Given the description of an element on the screen output the (x, y) to click on. 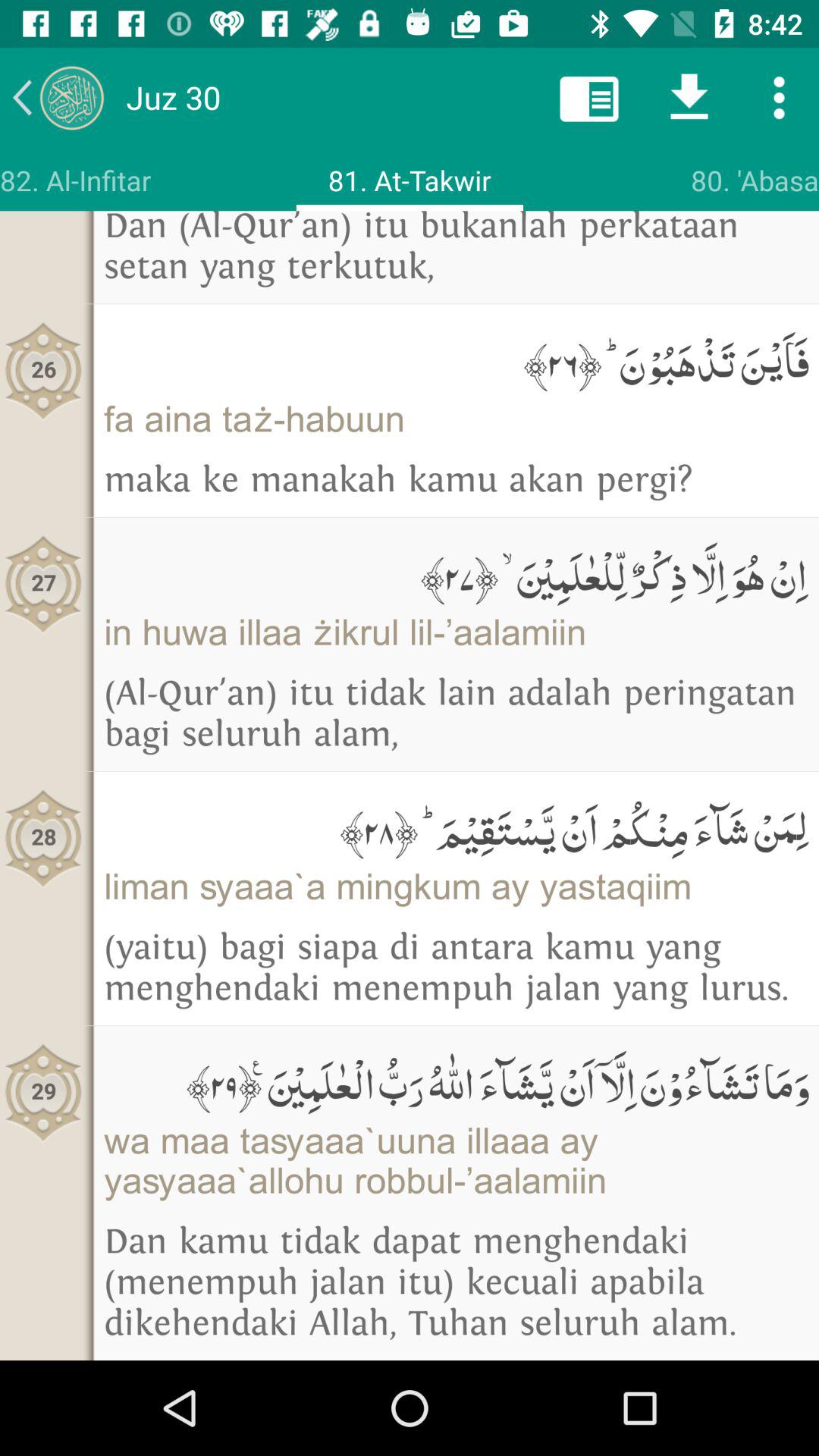
tap for more option (779, 97)
